Given the description of an element on the screen output the (x, y) to click on. 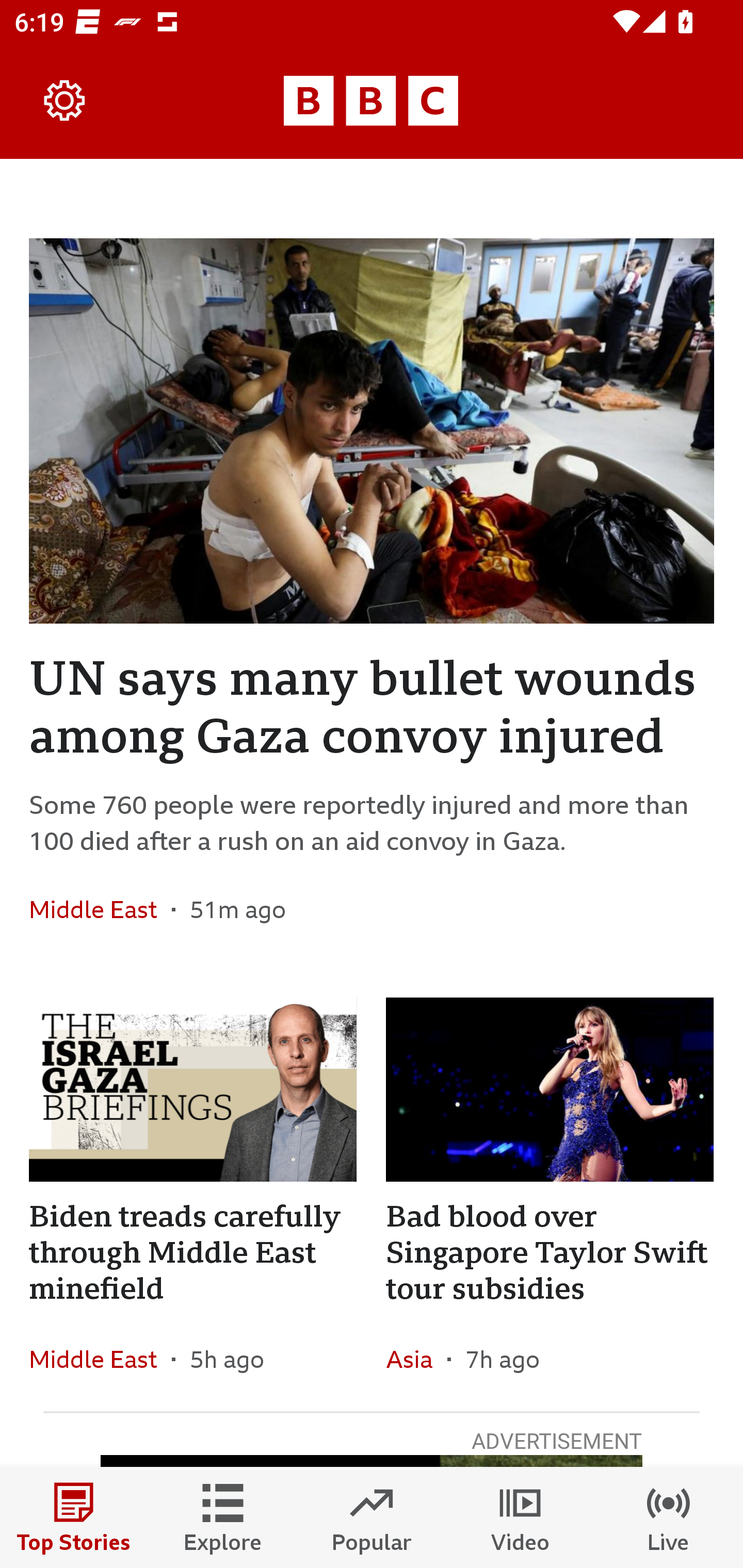
Settings (64, 100)
Middle East In the section Middle East (99, 909)
Middle East In the section Middle East (99, 1359)
Asia In the section Asia (416, 1359)
Explore (222, 1517)
Popular (371, 1517)
Video (519, 1517)
Live (668, 1517)
